Given the description of an element on the screen output the (x, y) to click on. 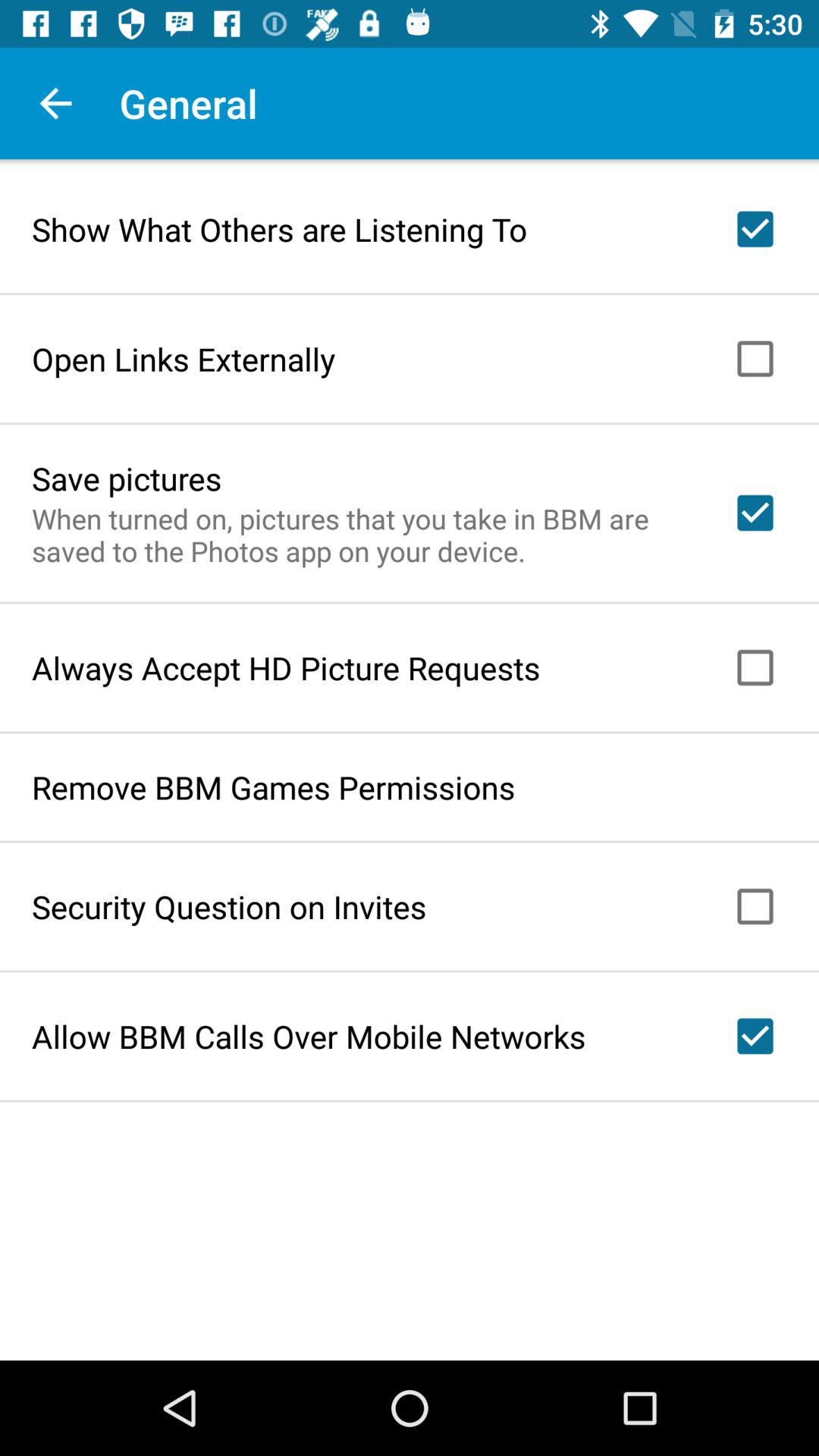
open item to the left of the general app (55, 103)
